Given the description of an element on the screen output the (x, y) to click on. 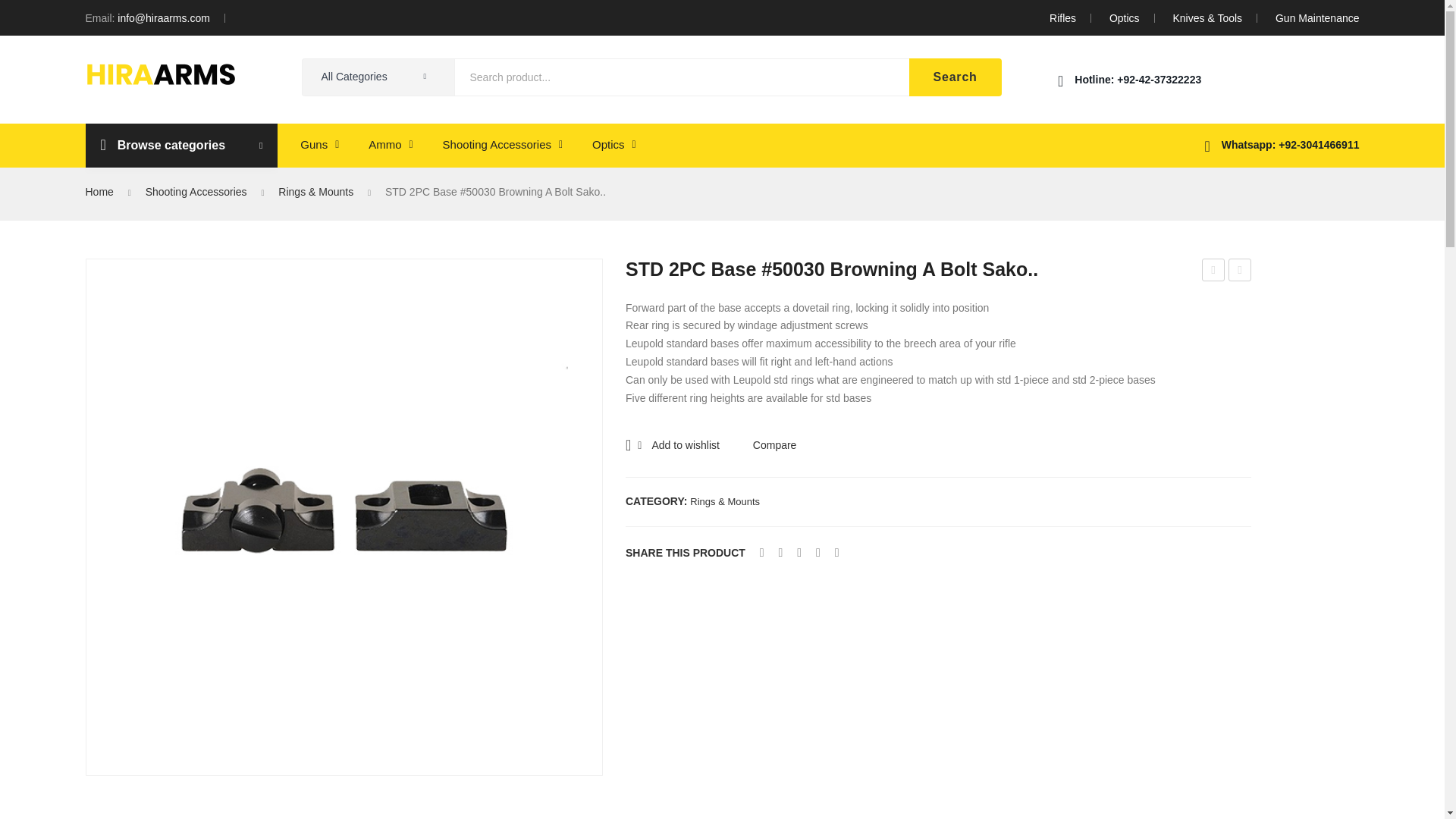
Gun Maintenance (1317, 18)
Hira Arms (159, 73)
Rifles (1062, 18)
Optics (1124, 18)
